Given the description of an element on the screen output the (x, y) to click on. 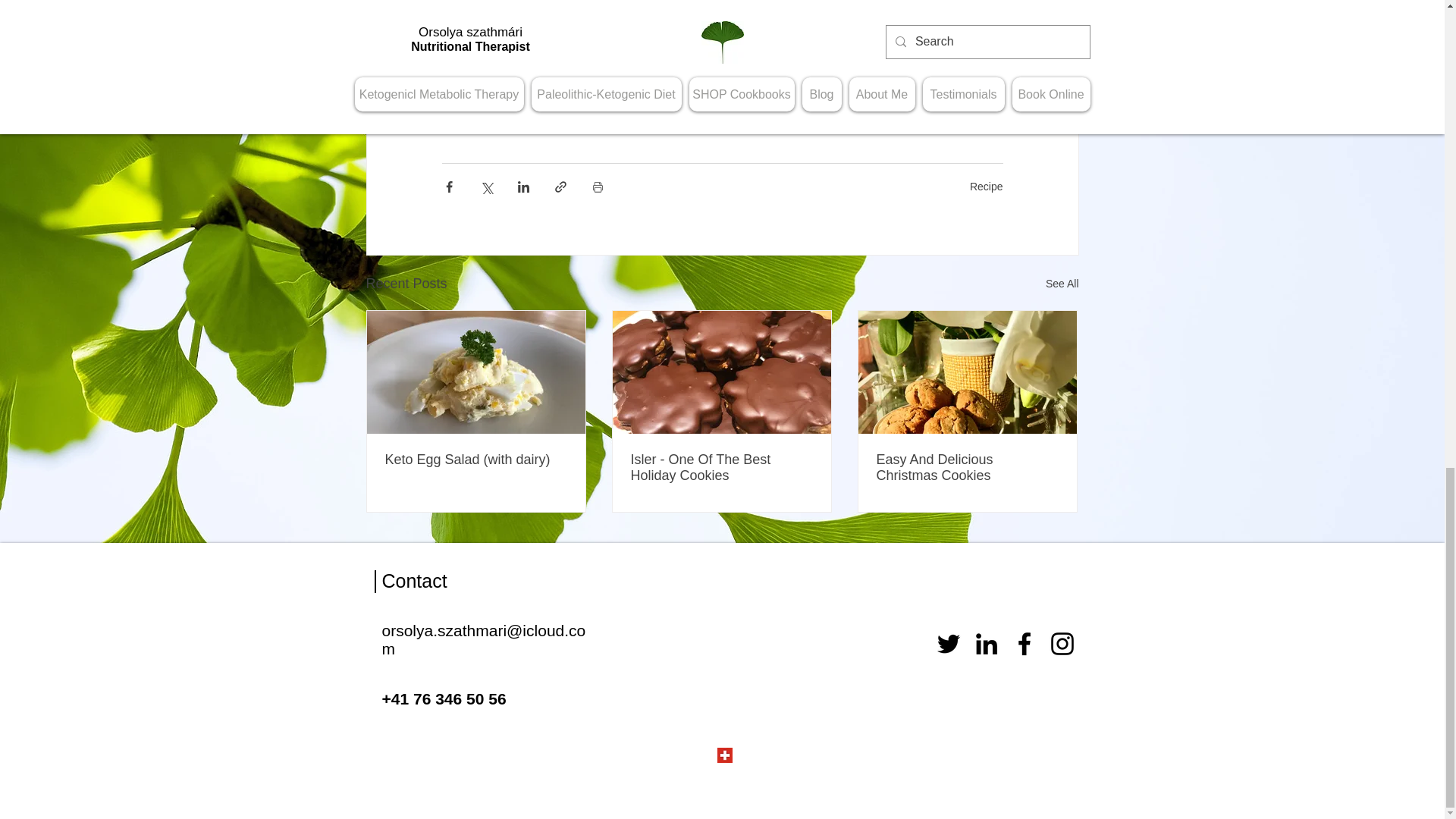
Easy And Delicious Christmas Cookies (967, 468)
Recipe (986, 185)
See All (1061, 283)
Isler - One Of The Best Holiday Cookies (721, 468)
